Given the description of an element on the screen output the (x, y) to click on. 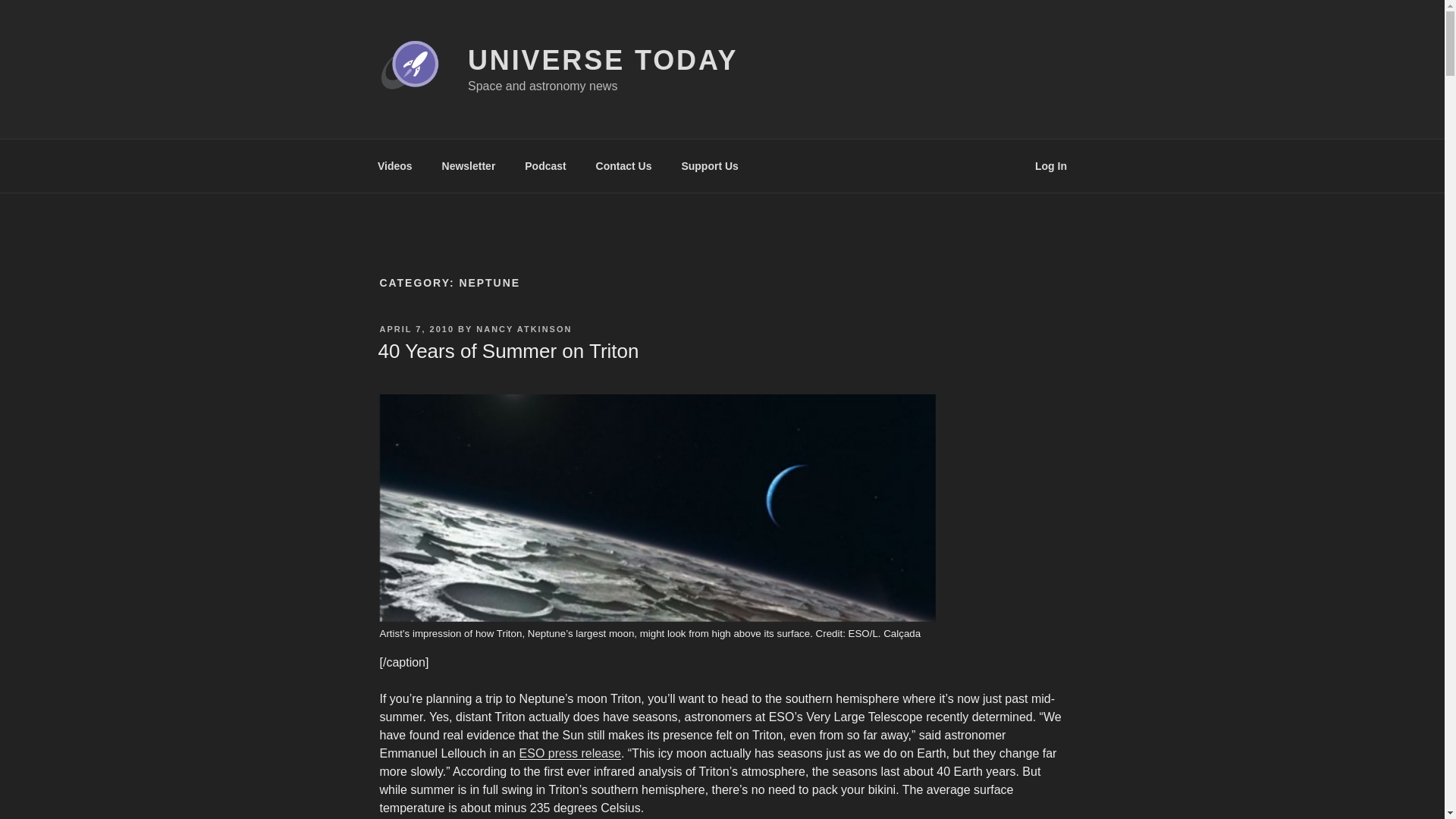
Videos (394, 165)
APRIL 7, 2010 (416, 328)
NANCY ATKINSON (524, 328)
Podcast (545, 165)
Log In (1051, 165)
ESO press release (570, 753)
Newsletter (468, 165)
UNIVERSE TODAY (602, 60)
Support Us (709, 165)
40 Years of Summer on Triton (508, 350)
Contact Us (623, 165)
